Given the description of an element on the screen output the (x, y) to click on. 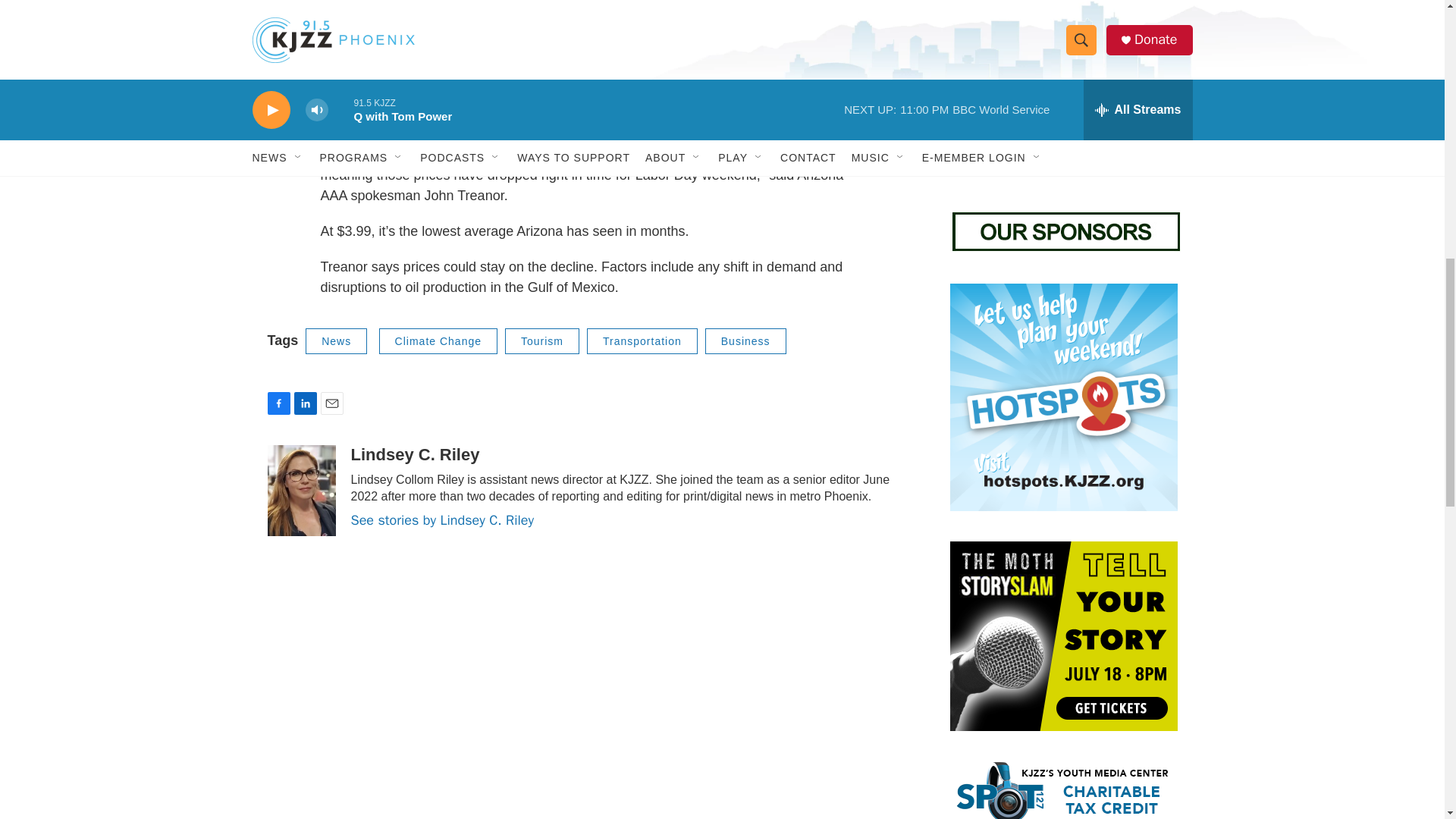
3rd party ad content (1062, 89)
Spot 127 web site (1062, 790)
